Given the description of an element on the screen output the (x, y) to click on. 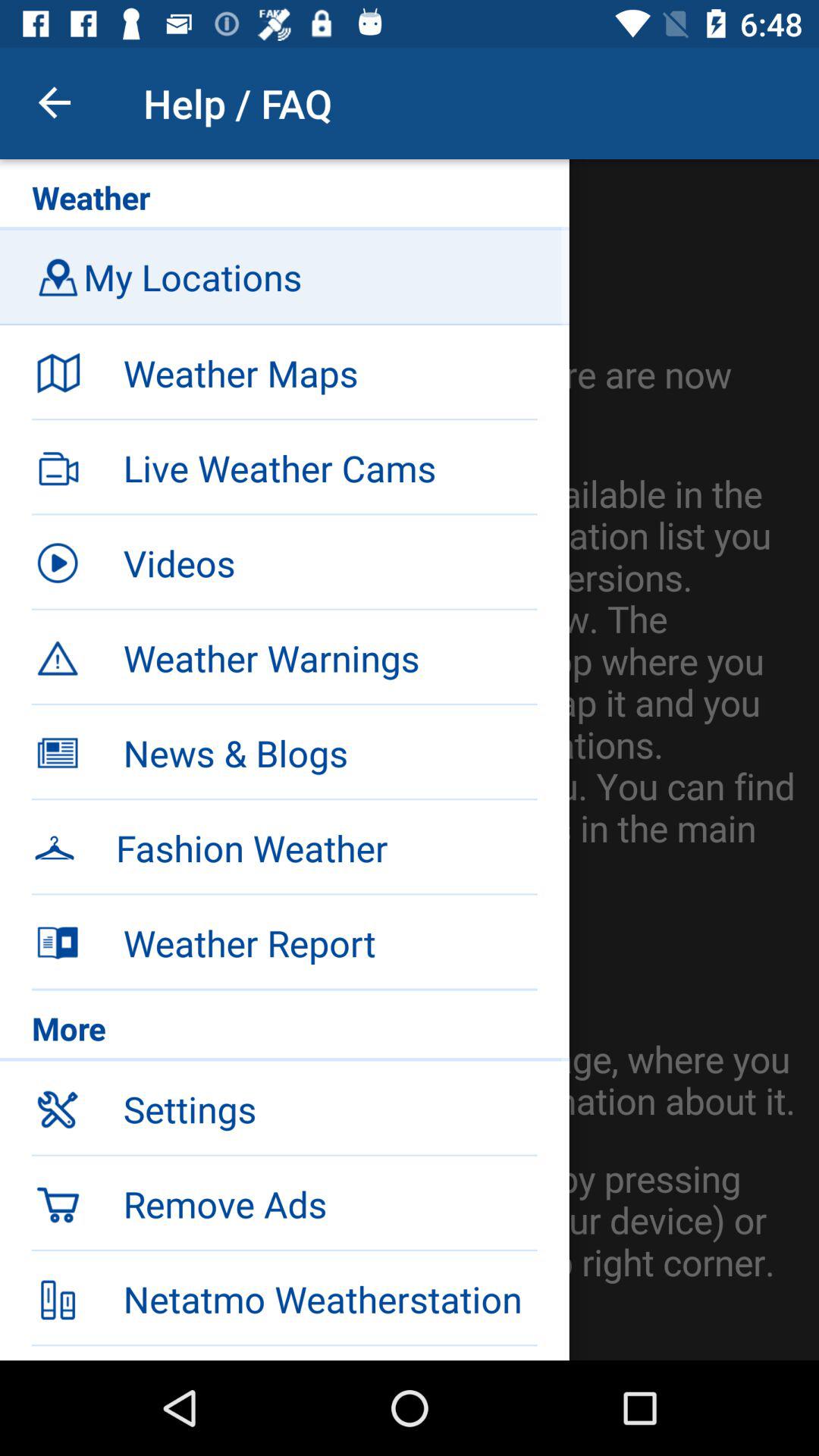
swipe to the fashion weather icon (326, 847)
